Given the description of an element on the screen output the (x, y) to click on. 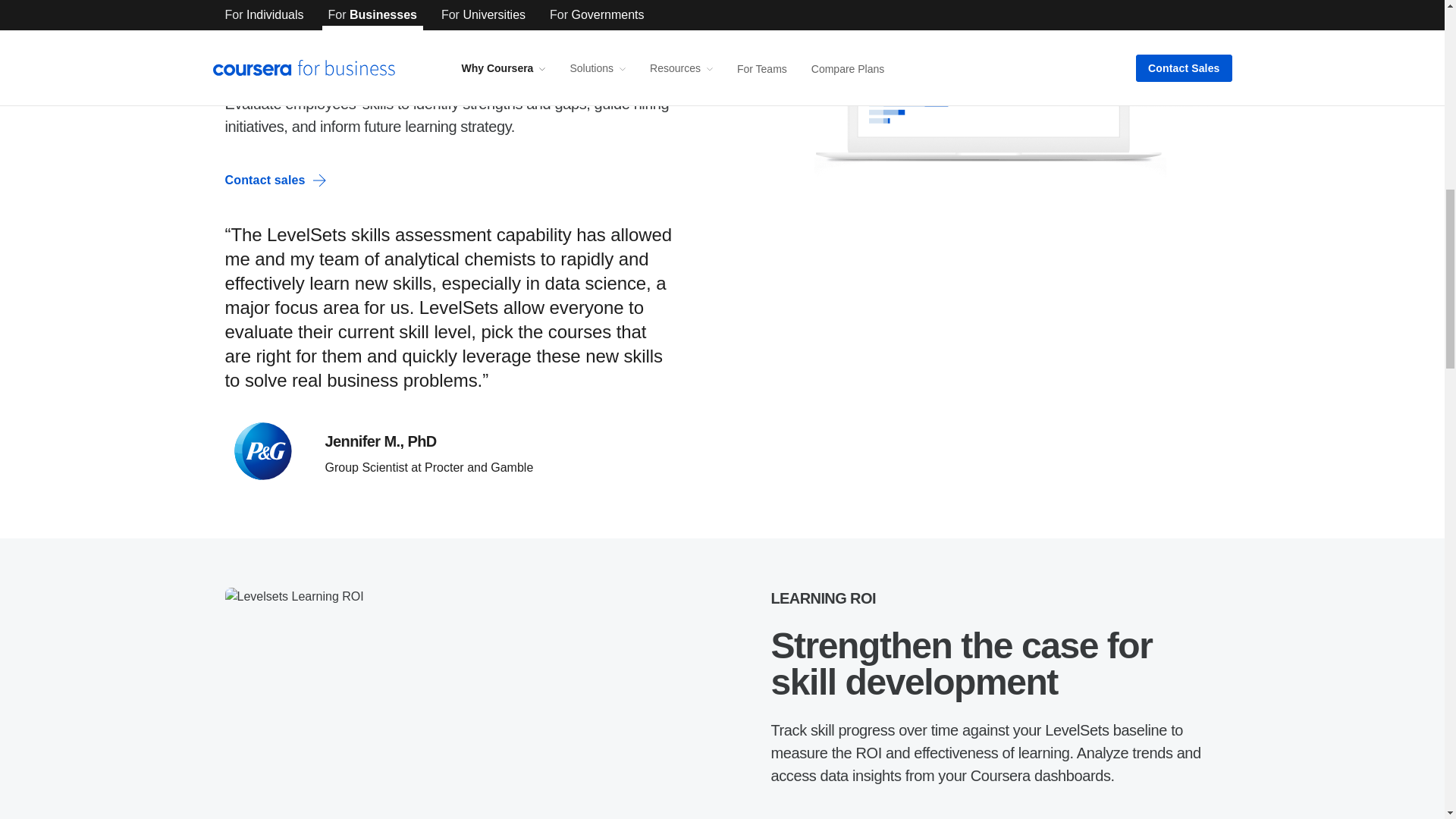
Explore Skills Dashboard (855, 815)
Contact sales (274, 180)
